Given the description of an element on the screen output the (x, y) to click on. 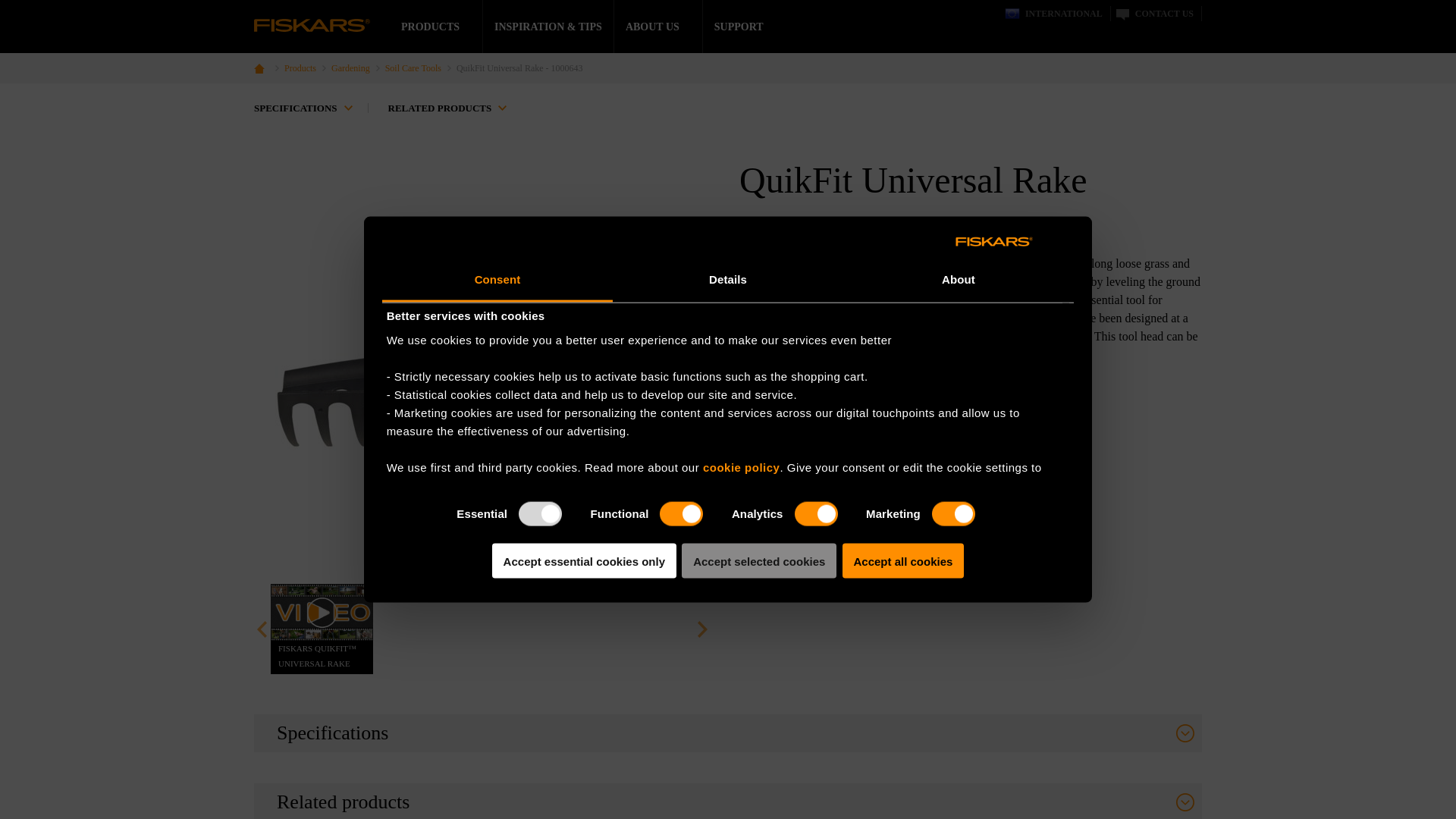
Details (727, 280)
cookie policy (741, 466)
Consent (496, 280)
About (958, 280)
Accept essential cookies only (584, 560)
Contact us (1153, 13)
Choose country (1053, 13)
